Given the description of an element on the screen output the (x, y) to click on. 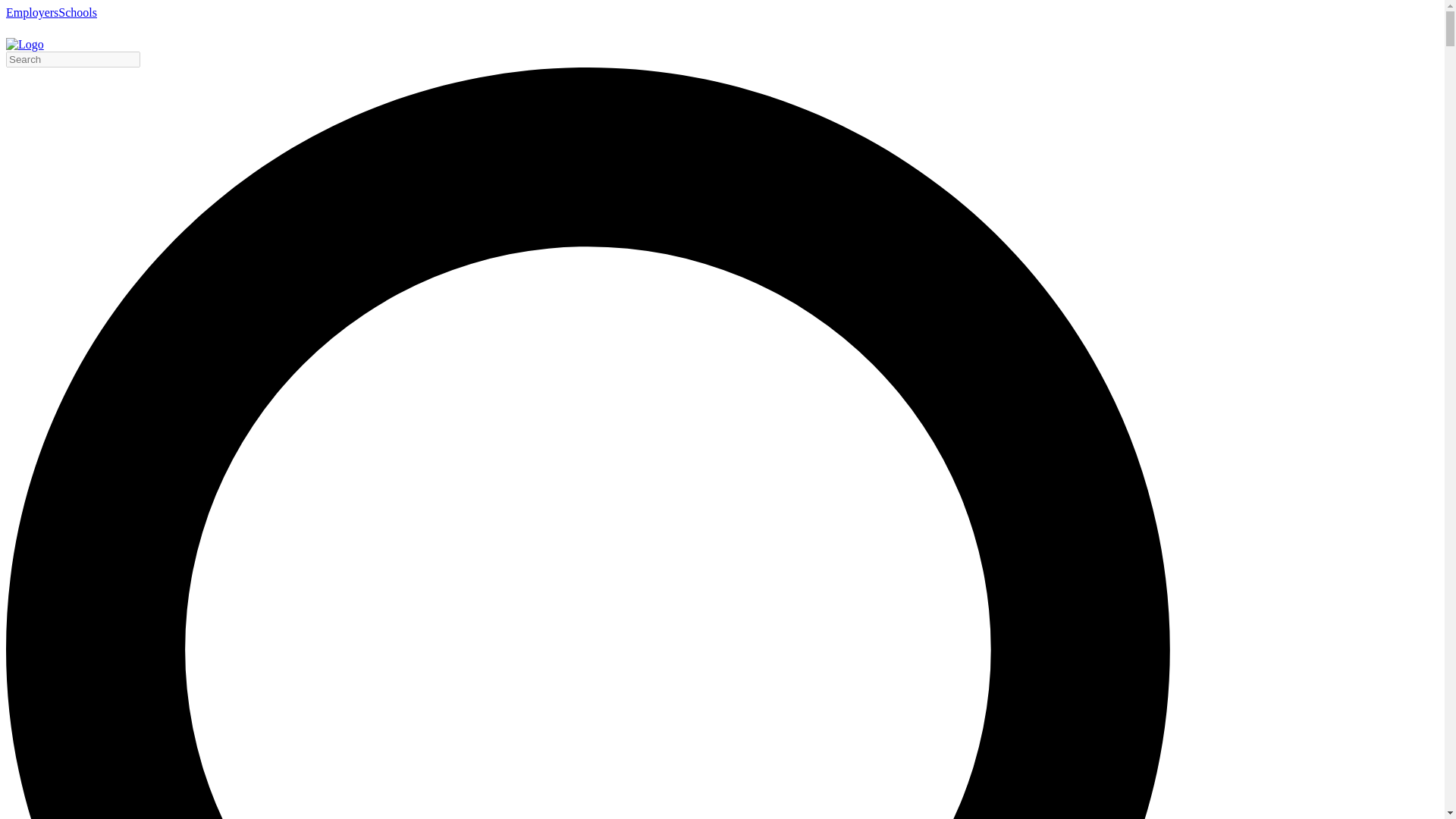
Employers (31, 11)
Schools (77, 11)
